Given the description of an element on the screen output the (x, y) to click on. 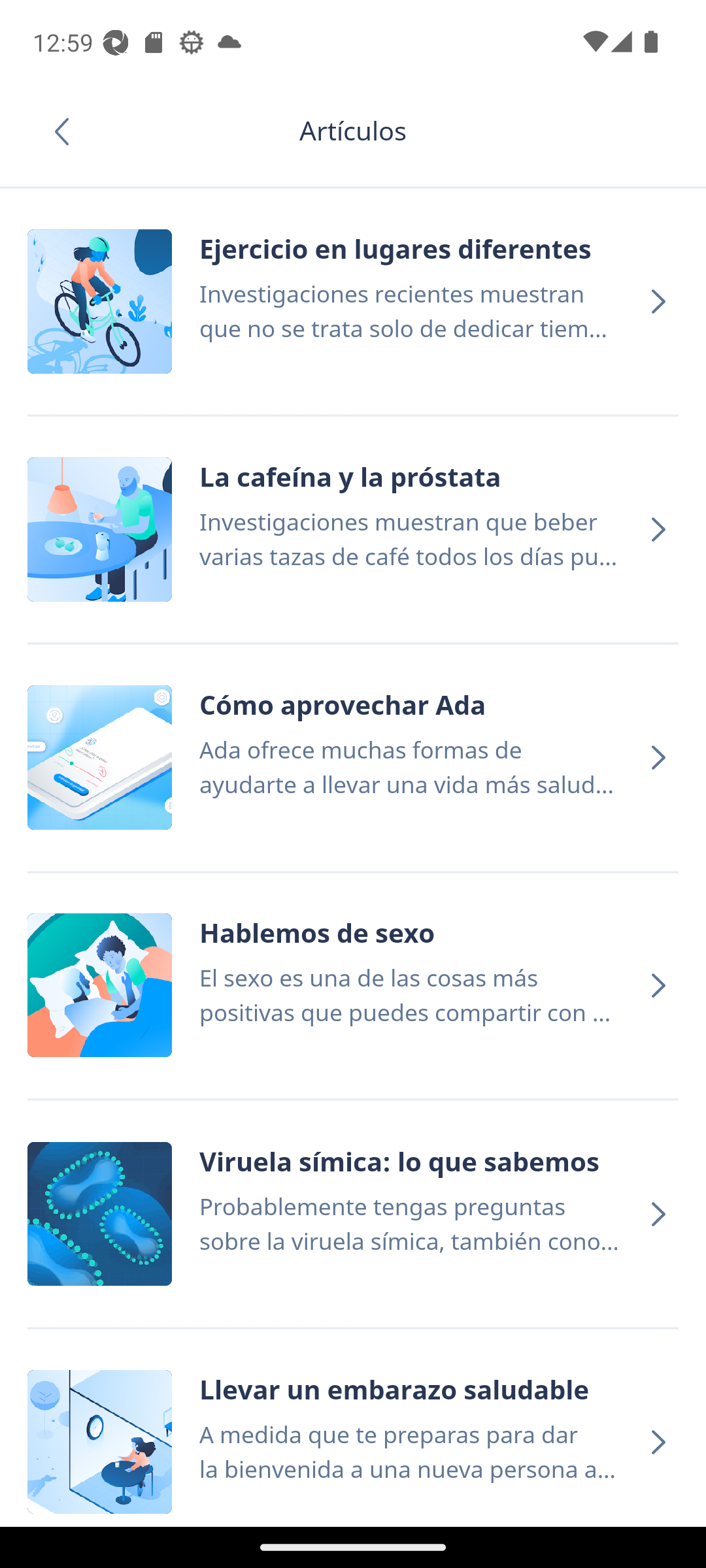
Go back, Navigates to the previous screen (68, 131)
